Given the description of an element on the screen output the (x, y) to click on. 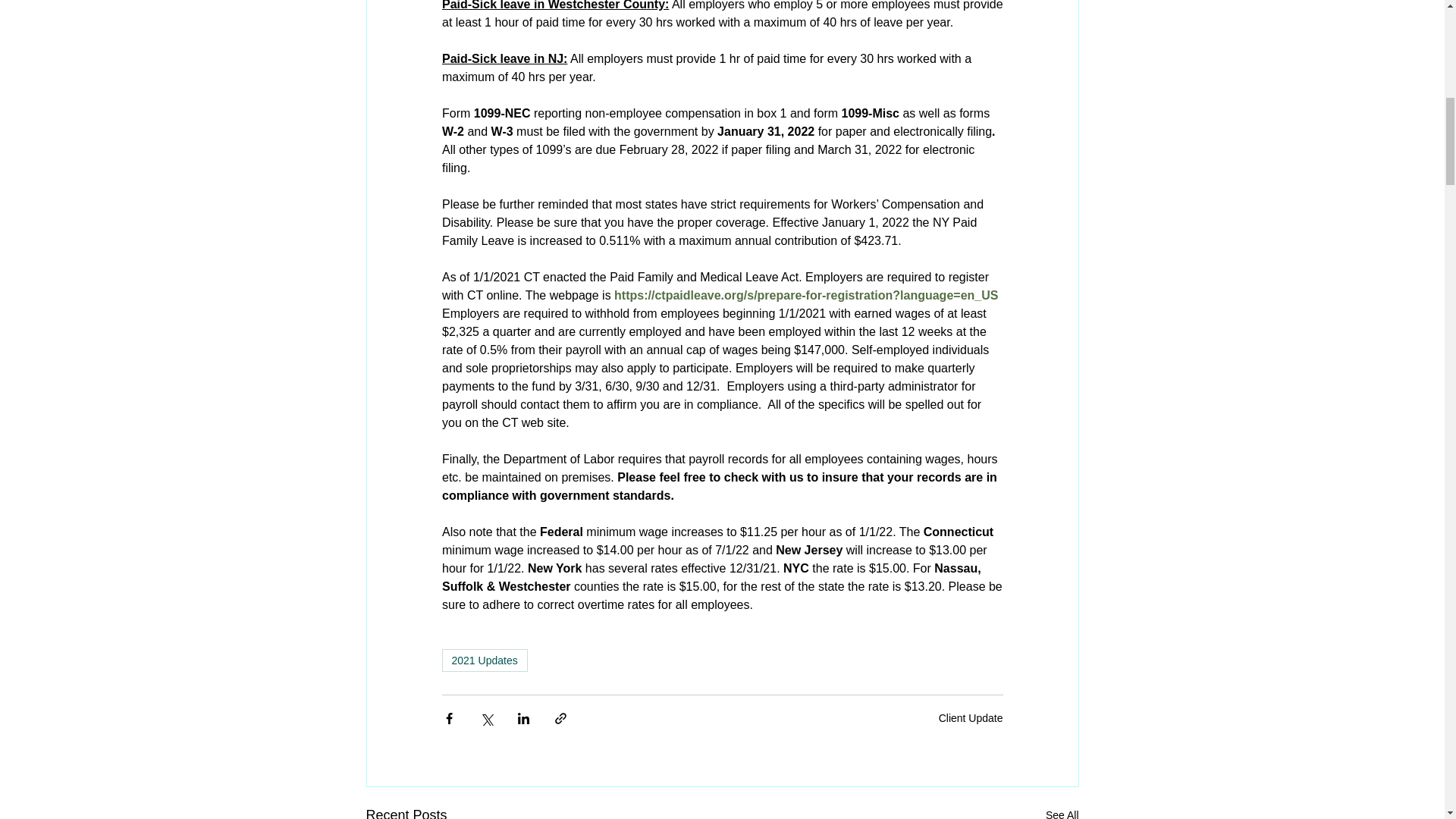
Client Update (971, 717)
See All (1061, 811)
2021 Updates (484, 660)
